Given the description of an element on the screen output the (x, y) to click on. 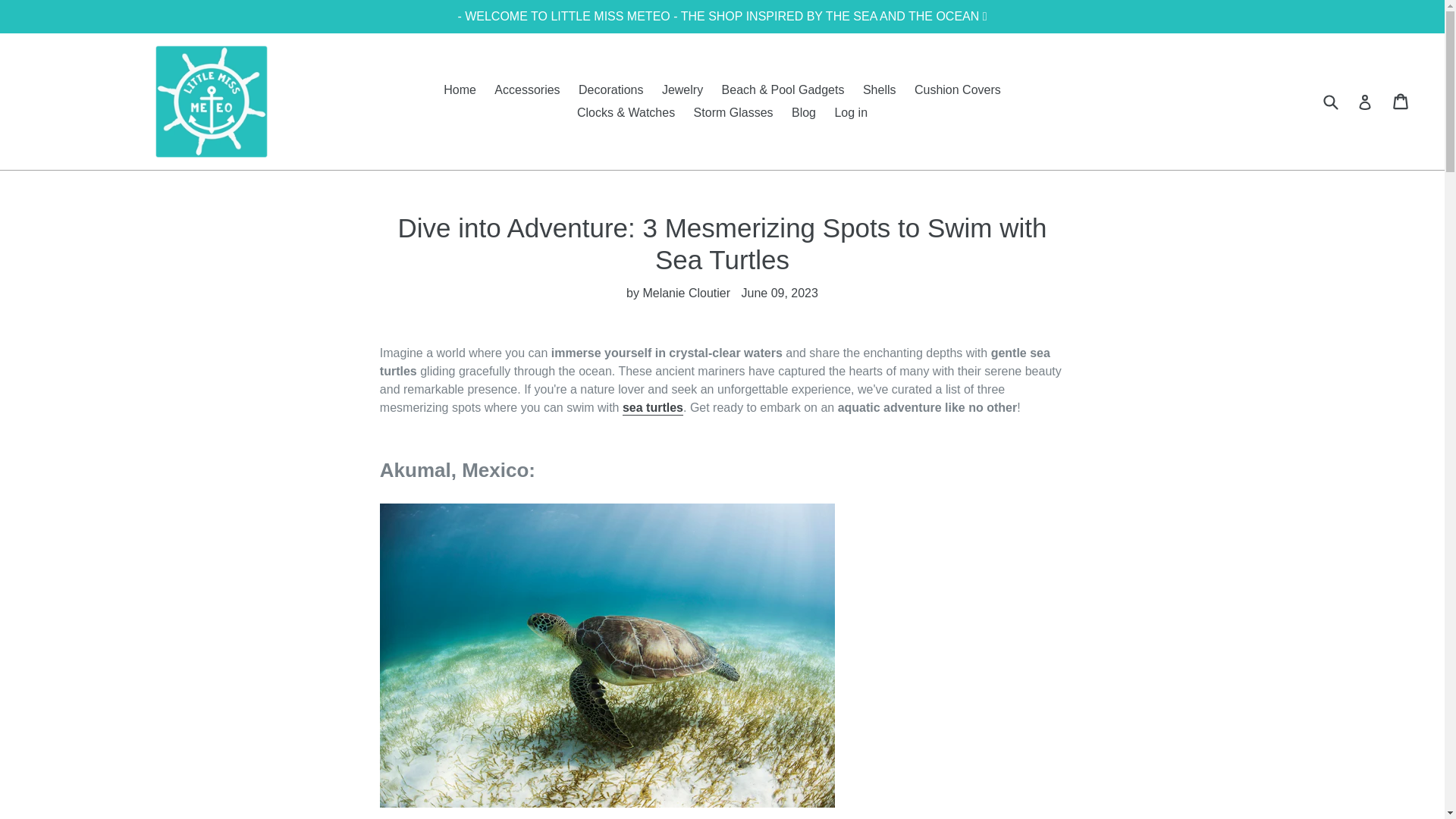
Storm Glasses (732, 112)
Home (459, 89)
sea turtles (652, 408)
Accessories (526, 89)
Decorations (610, 89)
Log in (851, 112)
Blog (804, 112)
Shells (880, 89)
Jewelry (681, 89)
Cushion Covers (958, 89)
